Given the description of an element on the screen output the (x, y) to click on. 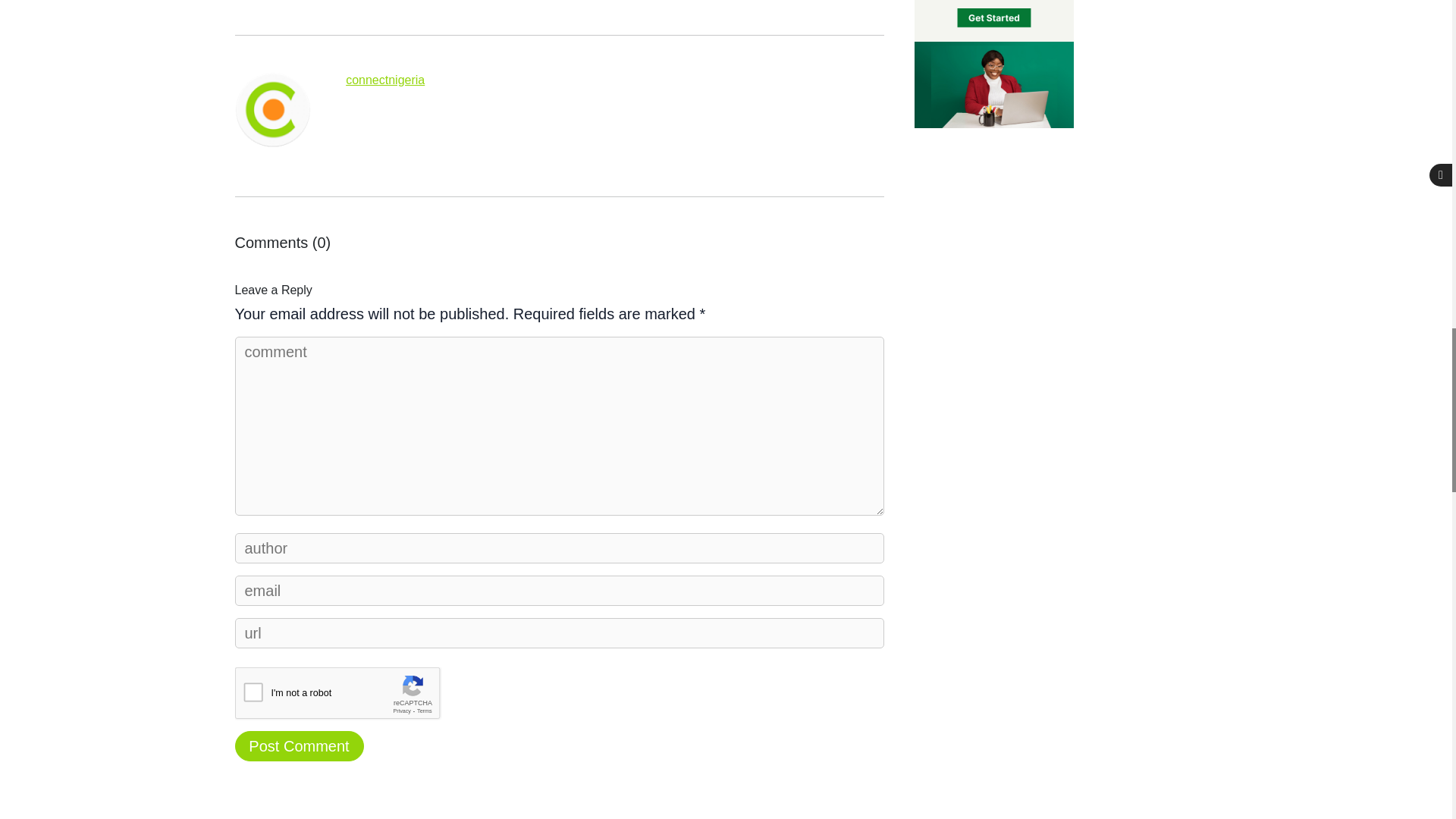
Post Comment (299, 746)
Post Comment (299, 746)
connectnigeria (385, 79)
